Given the description of an element on the screen output the (x, y) to click on. 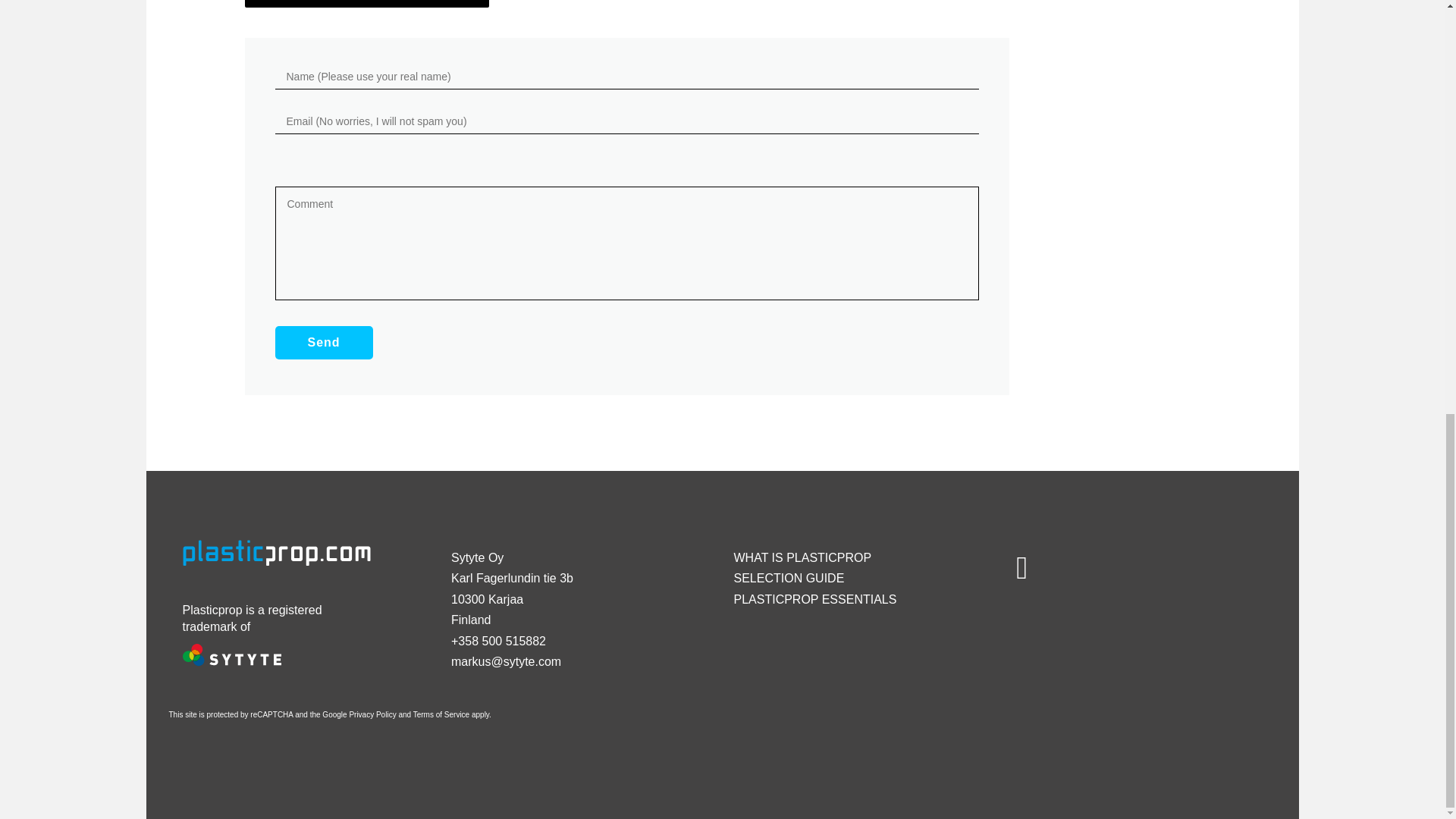
Privacy Policy (372, 714)
SELECTION GUIDE (788, 577)
Terms of Service (440, 714)
Send (323, 342)
WHAT IS PLASTICPROP (802, 557)
Back to the material selection guide (366, 3)
Send (323, 342)
PLASTICPROP ESSENTIALS (814, 599)
